Given the description of an element on the screen output the (x, y) to click on. 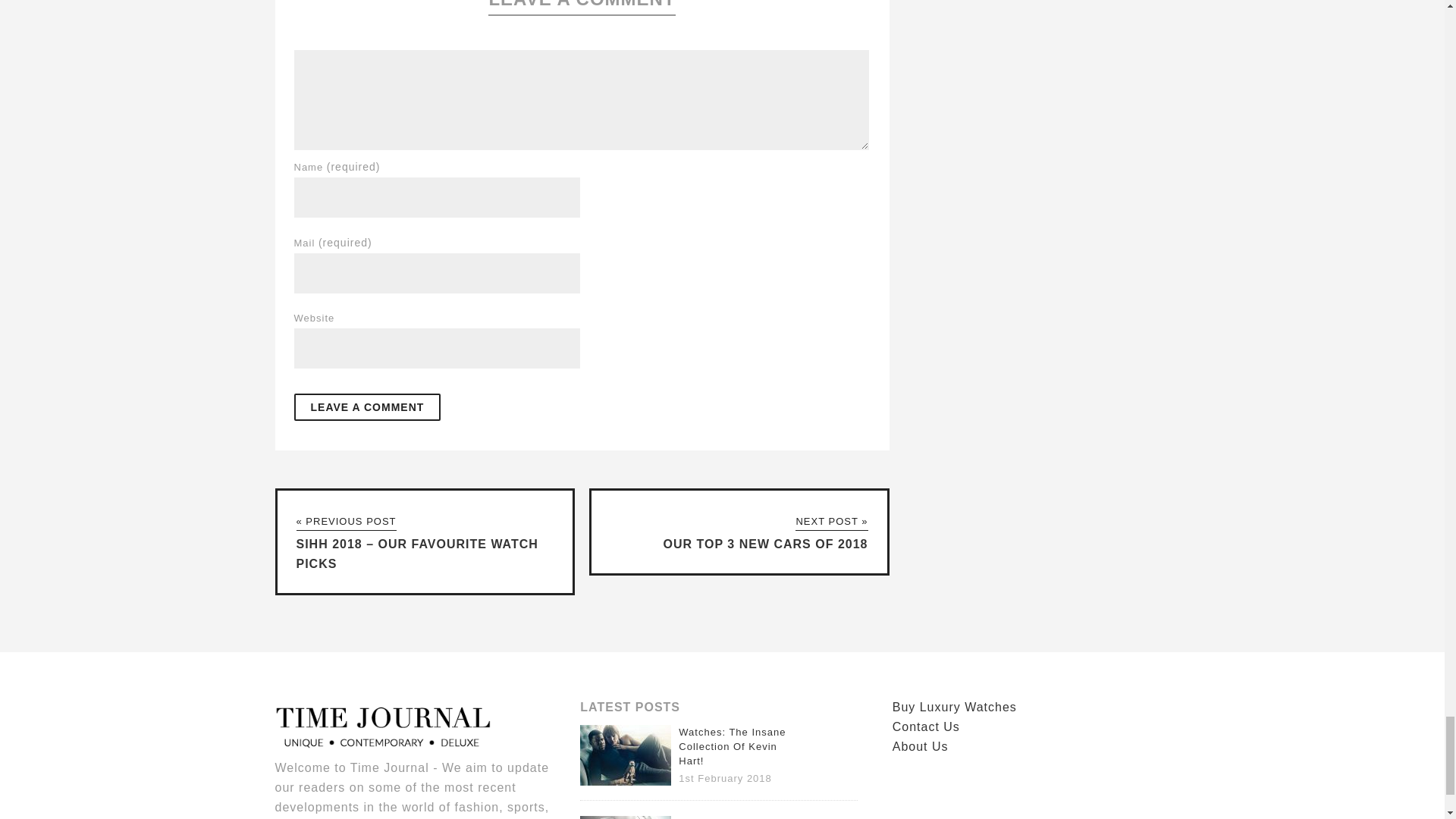
Leave a Comment (367, 406)
